Given the description of an element on the screen output the (x, y) to click on. 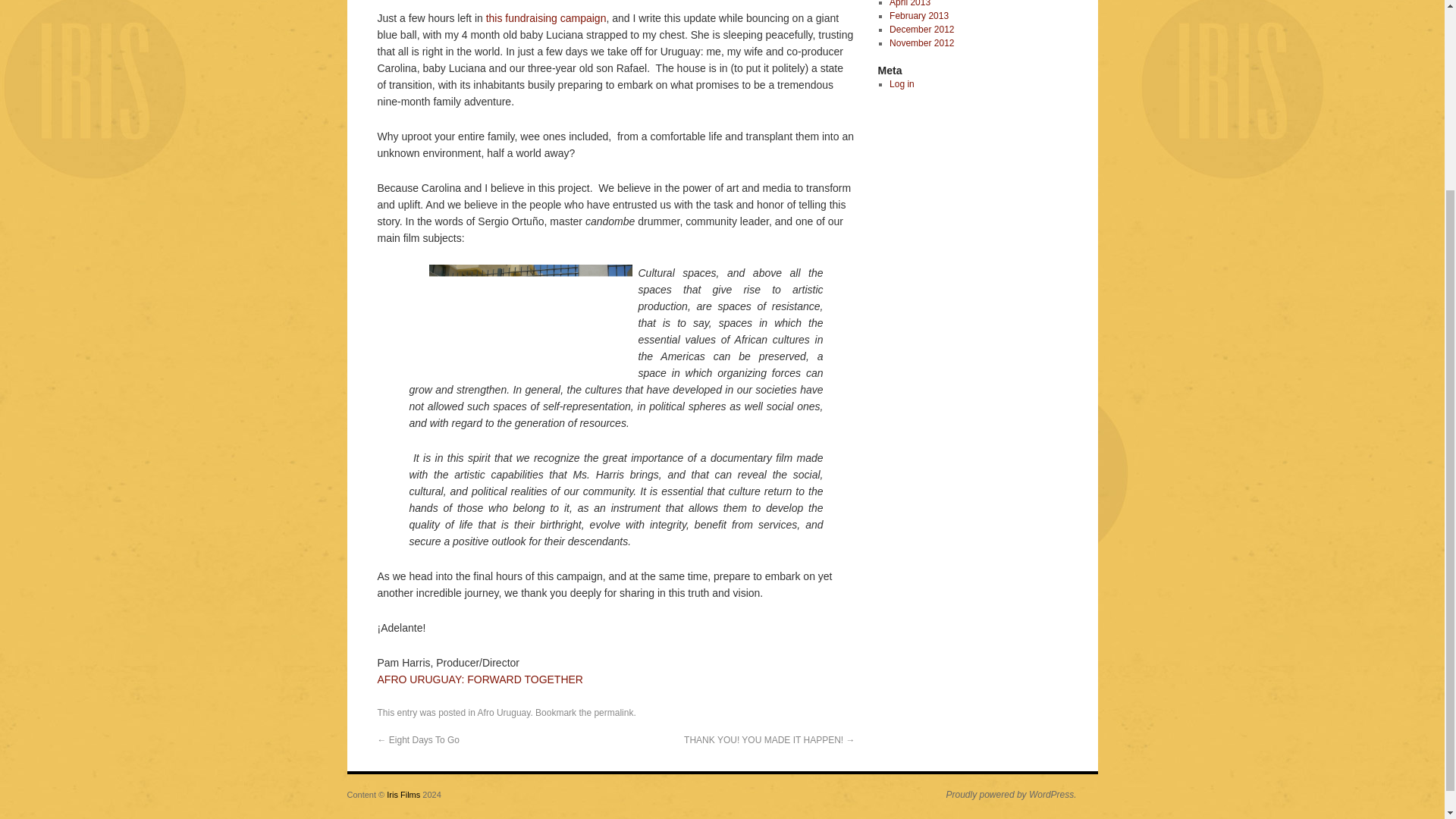
April 2013 (909, 3)
Afro Uruguay (504, 712)
December 2012 (921, 29)
Iris Films (404, 794)
Proudly powered by WordPress. (1004, 794)
February 2013 (919, 15)
Log in (901, 83)
this fundraising campaign (546, 18)
permalink (613, 712)
Iris Films (404, 794)
